Given the description of an element on the screen output the (x, y) to click on. 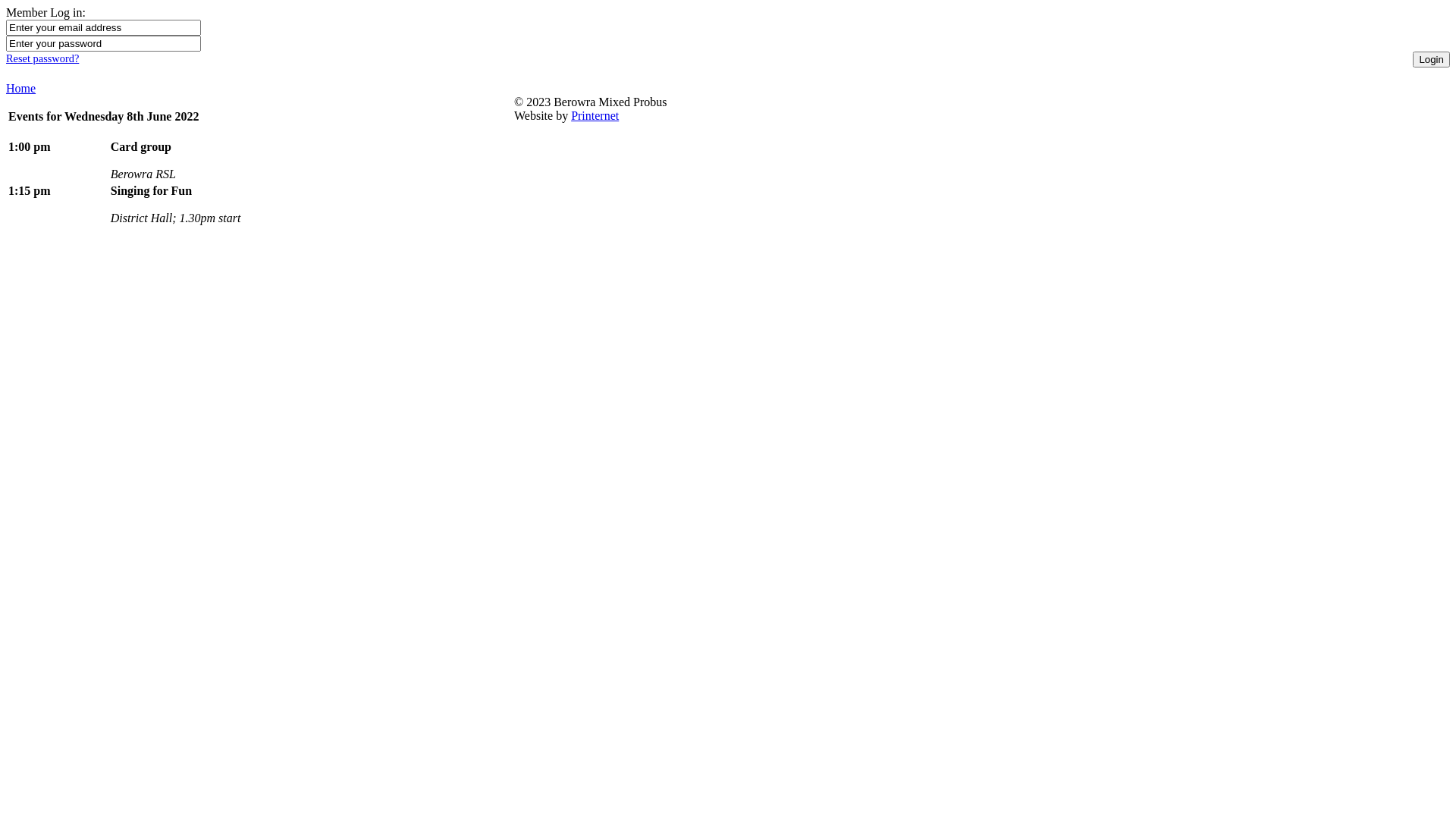
Printernet Element type: text (594, 115)
Login Element type: text (1430, 59)
Enter your password Element type: text (103, 43)
Enter your email address Element type: text (103, 27)
Home Element type: text (20, 87)
Reset password? Element type: text (42, 58)
